Given the description of an element on the screen output the (x, y) to click on. 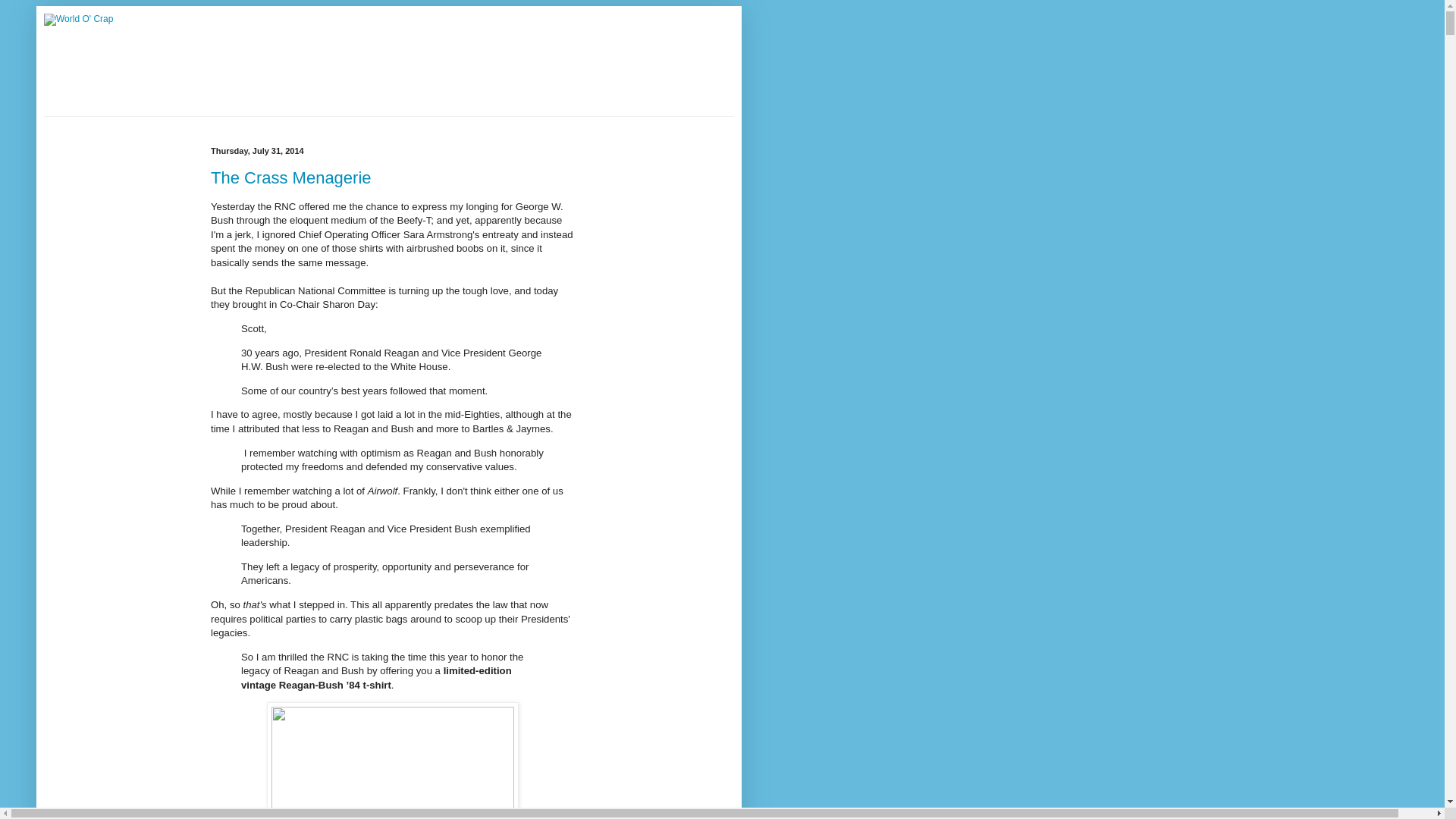
The Crass Menagerie (291, 177)
